Given the description of an element on the screen output the (x, y) to click on. 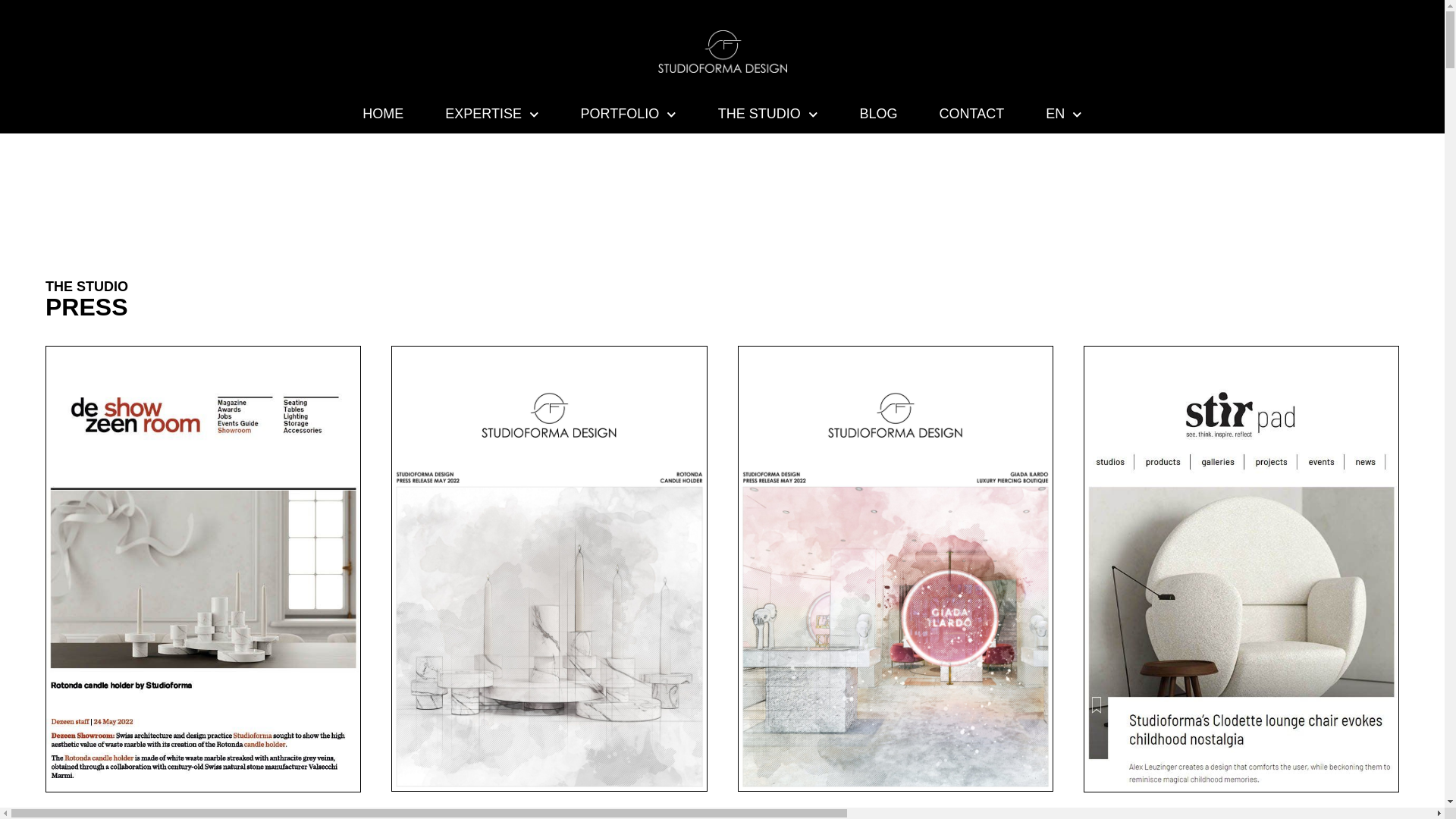
EN (1063, 114)
HOME (383, 114)
PORTFOLIO (628, 114)
THE STUDIO (767, 114)
BLOG (878, 114)
EXPERTISE (491, 114)
CONTACT (971, 114)
EN (1063, 114)
